Given the description of an element on the screen output the (x, y) to click on. 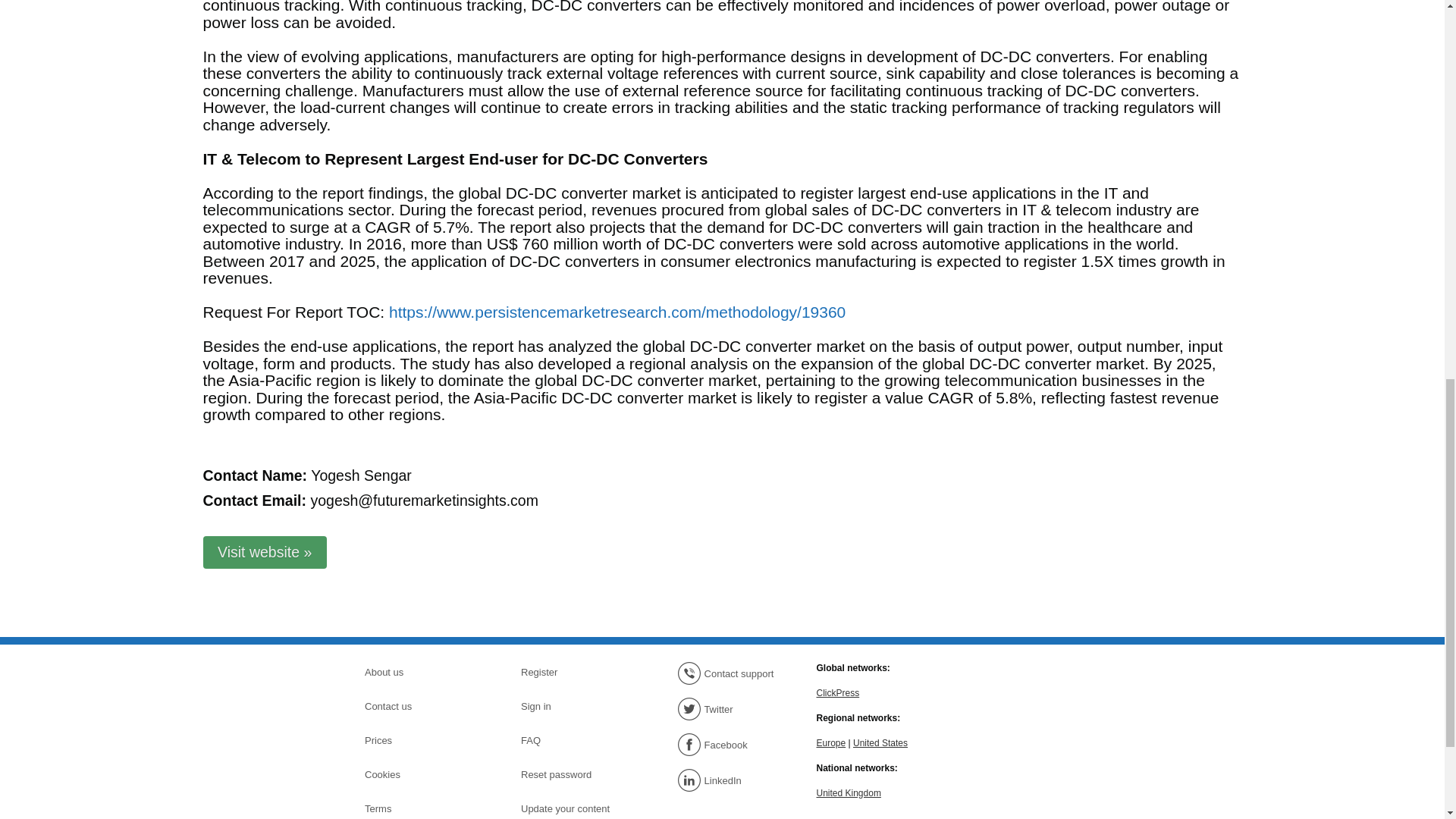
Cookies (417, 774)
Sign in (574, 706)
FAQ (574, 740)
United Kingdom (847, 792)
Europe (830, 742)
Contact support (730, 672)
Facebook (730, 744)
Contact us (417, 706)
Update your content (574, 808)
Prices (417, 740)
